Given the description of an element on the screen output the (x, y) to click on. 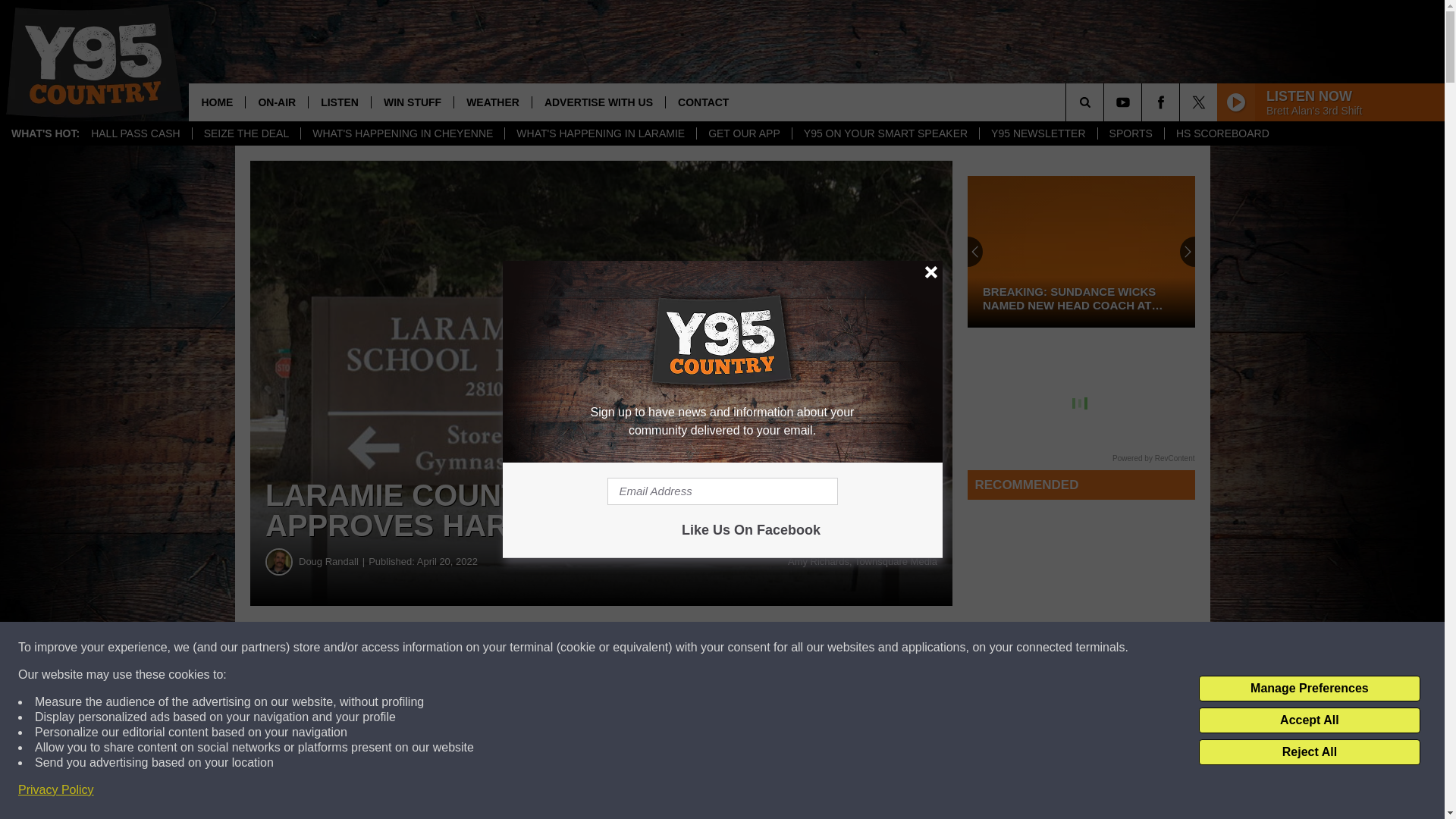
Reject All (1309, 751)
HOME (216, 102)
Y95 ON YOUR SMART SPEAKER (885, 133)
SEIZE THE DEAL (246, 133)
Manage Preferences (1309, 688)
SEARCH (1106, 102)
Y95 NEWSLETTER (1037, 133)
WHAT'S HAPPENING IN LARAMIE (599, 133)
Privacy Policy (55, 789)
LISTEN (339, 102)
Email Address (722, 491)
Share on Twitter (741, 647)
CONTACT (703, 102)
HALL PASS CASH (136, 133)
Accept All (1309, 720)
